Given the description of an element on the screen output the (x, y) to click on. 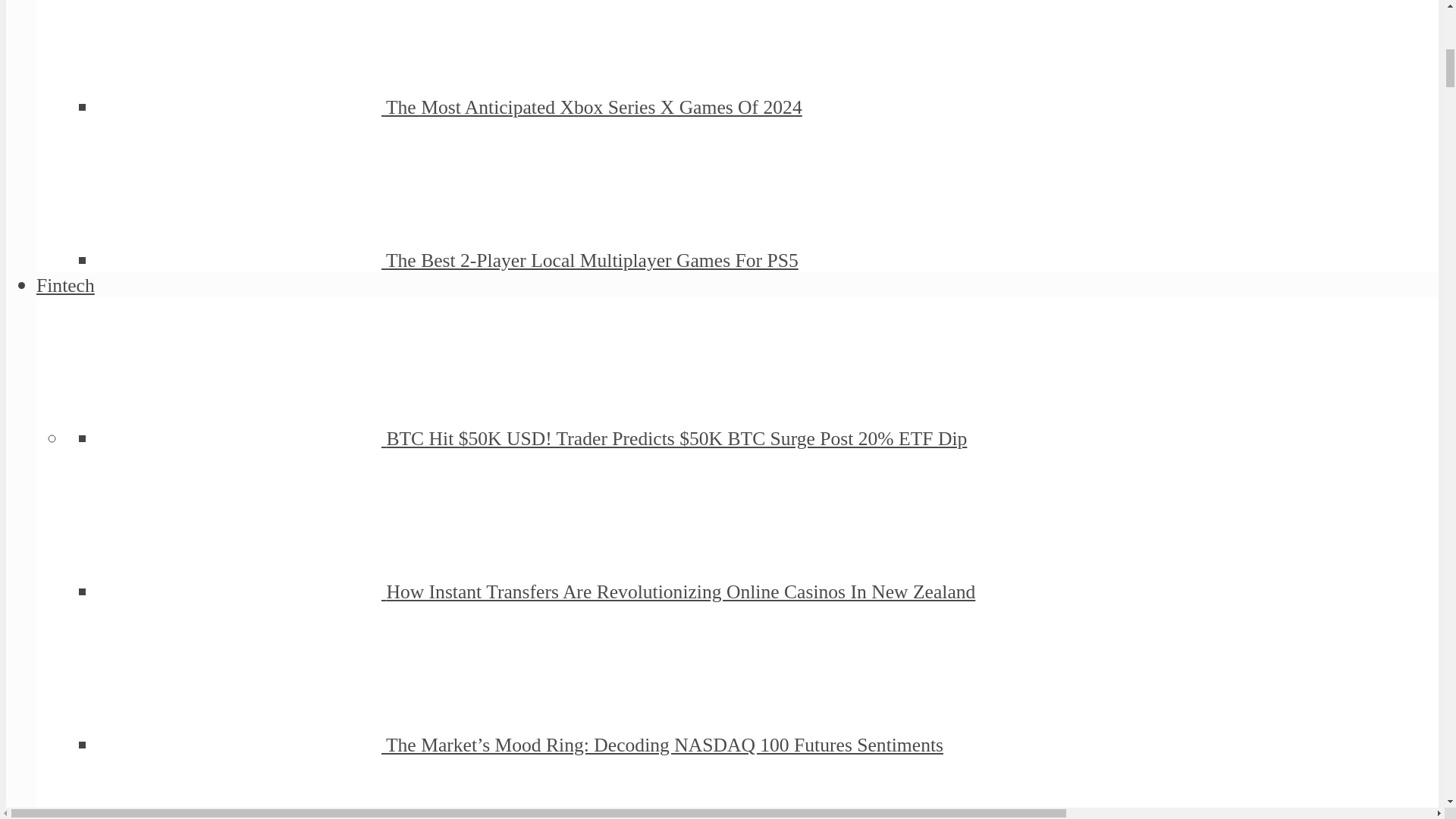
The Most Anticipated Xbox Series X Games Of 2024 (593, 106)
The Most Anticipated Xbox Series X Games Of 2024 (593, 106)
The Most Anticipated Xbox Series X Games Of 2024 (241, 106)
The Best 2-Player Local Multiplayer Games For PS5 (591, 260)
The Best 2-Player Local Multiplayer Games For PS5 (241, 260)
The Best 2-Player Local Multiplayer Games For PS5 (591, 260)
Fintech (65, 285)
